Given the description of an element on the screen output the (x, y) to click on. 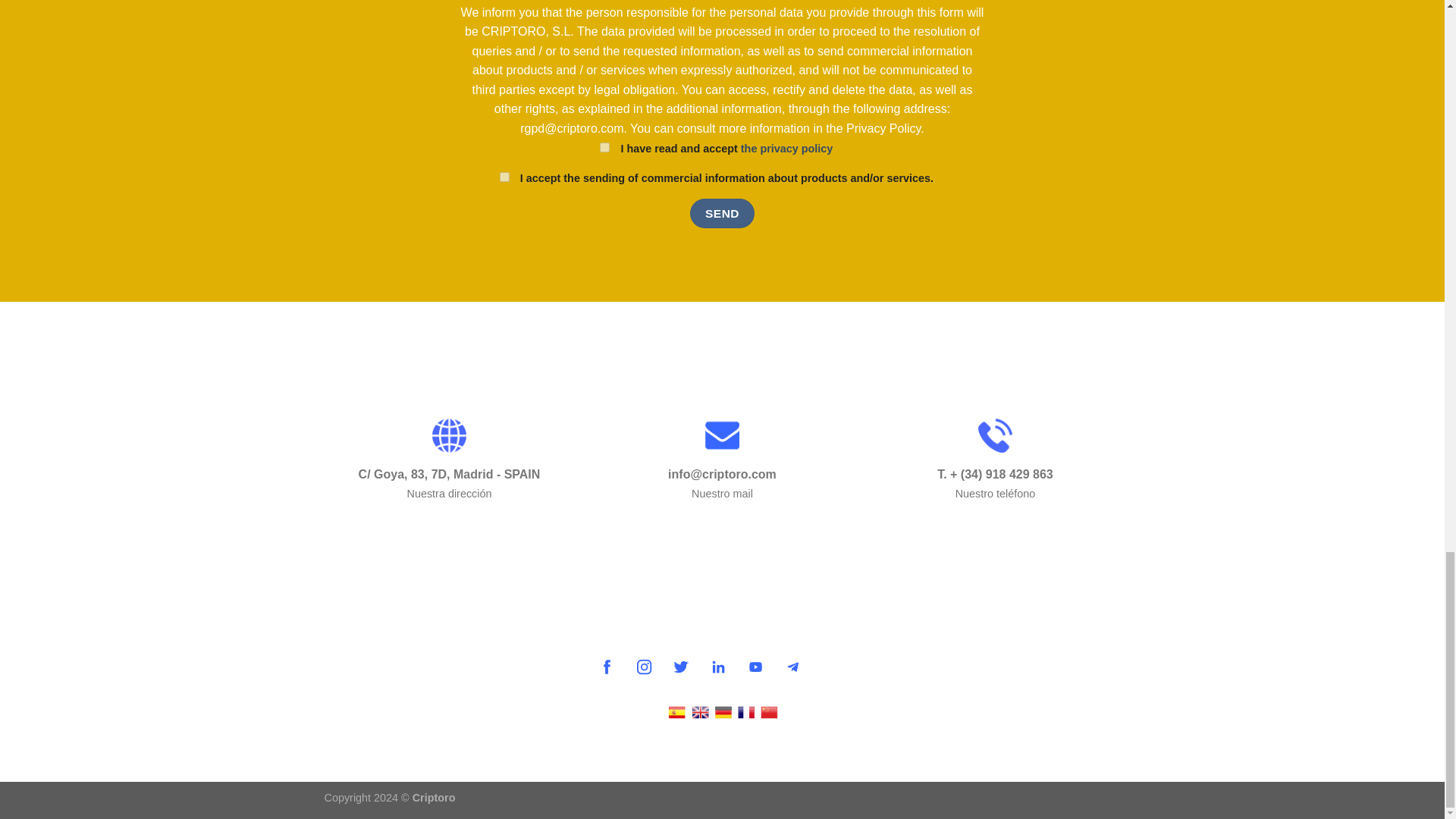
Send (722, 213)
Aviso Legal (454, 593)
Inicio (518, 535)
Send (722, 213)
1 (604, 147)
Nosotros (789, 535)
the privacy policy (786, 148)
1 (504, 176)
Contacto (653, 535)
